Given the description of an element on the screen output the (x, y) to click on. 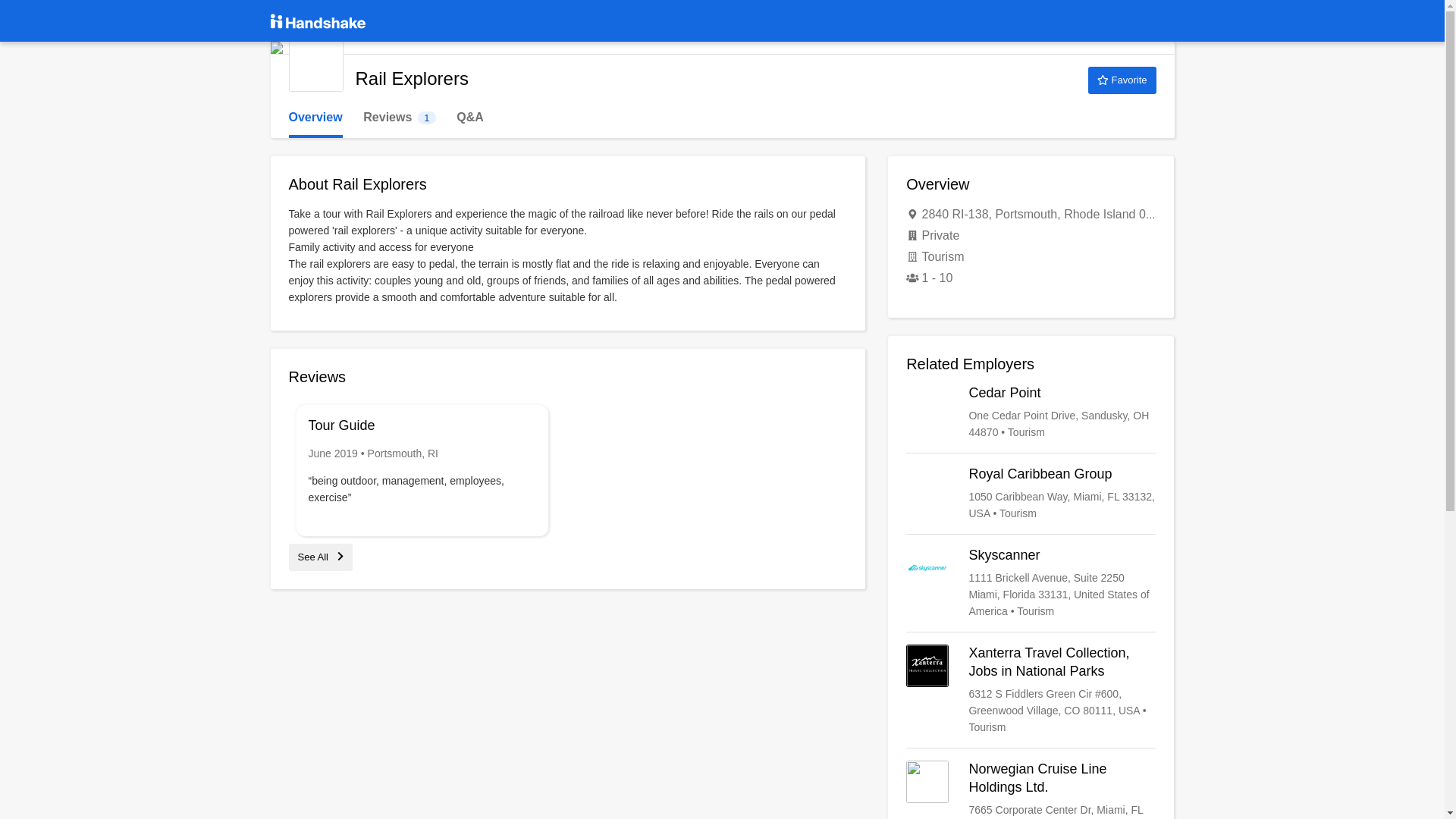
Rail Explorers (315, 63)
Cedar Point (1030, 412)
Xanterra Travel Collection, Jobs in National Parks (1030, 689)
See All (320, 556)
Royal Caribbean Group (1030, 493)
Favorite (1121, 80)
Overview (315, 117)
Skyscanner (1030, 583)
Norwegian Cruise Line Holdings Ltd. (398, 117)
